Given the description of an element on the screen output the (x, y) to click on. 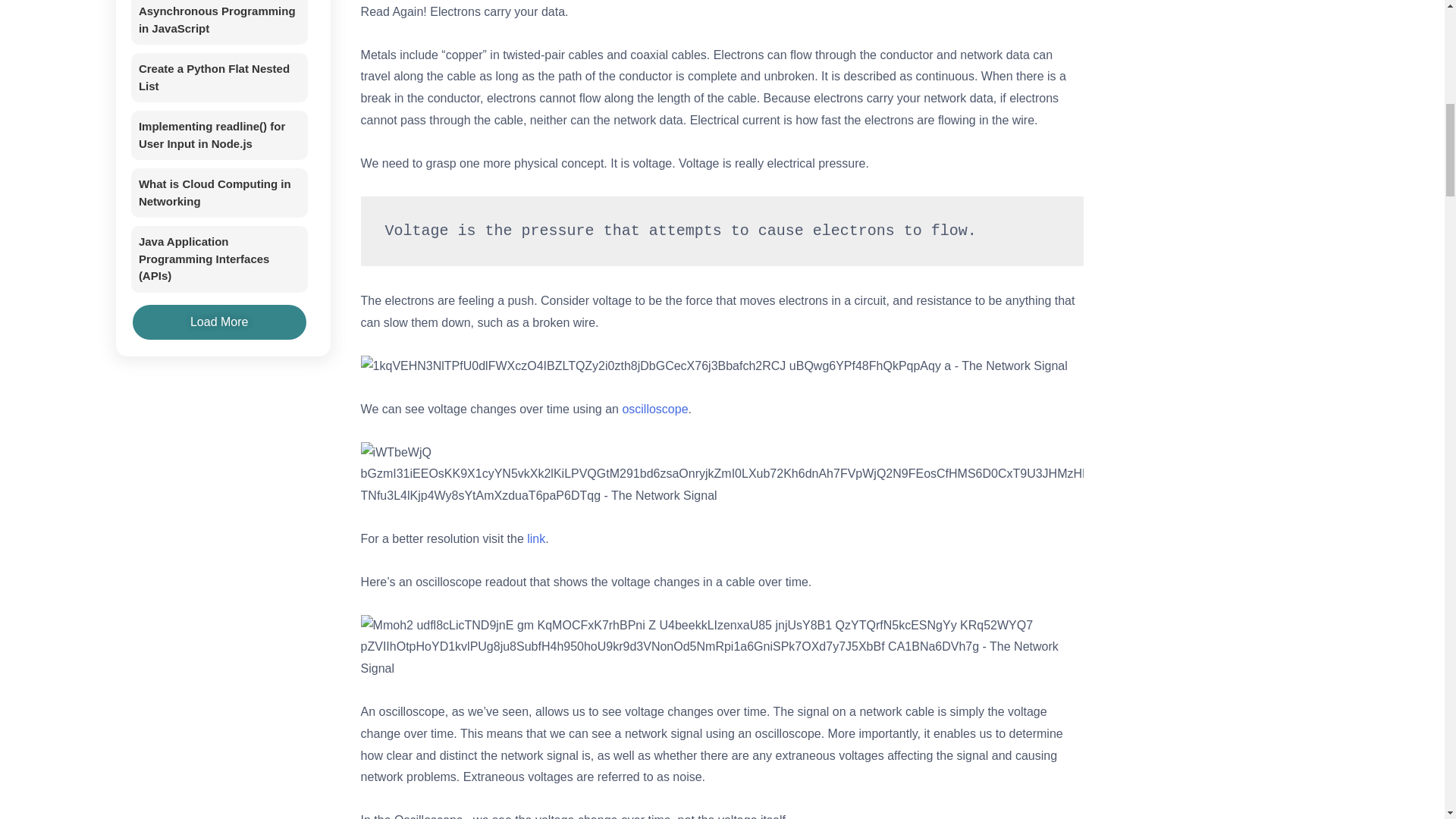
The Network Signal 1 (714, 366)
The Network Signal 2 (722, 474)
The Network Signal 3 (722, 647)
